Given the description of an element on the screen output the (x, y) to click on. 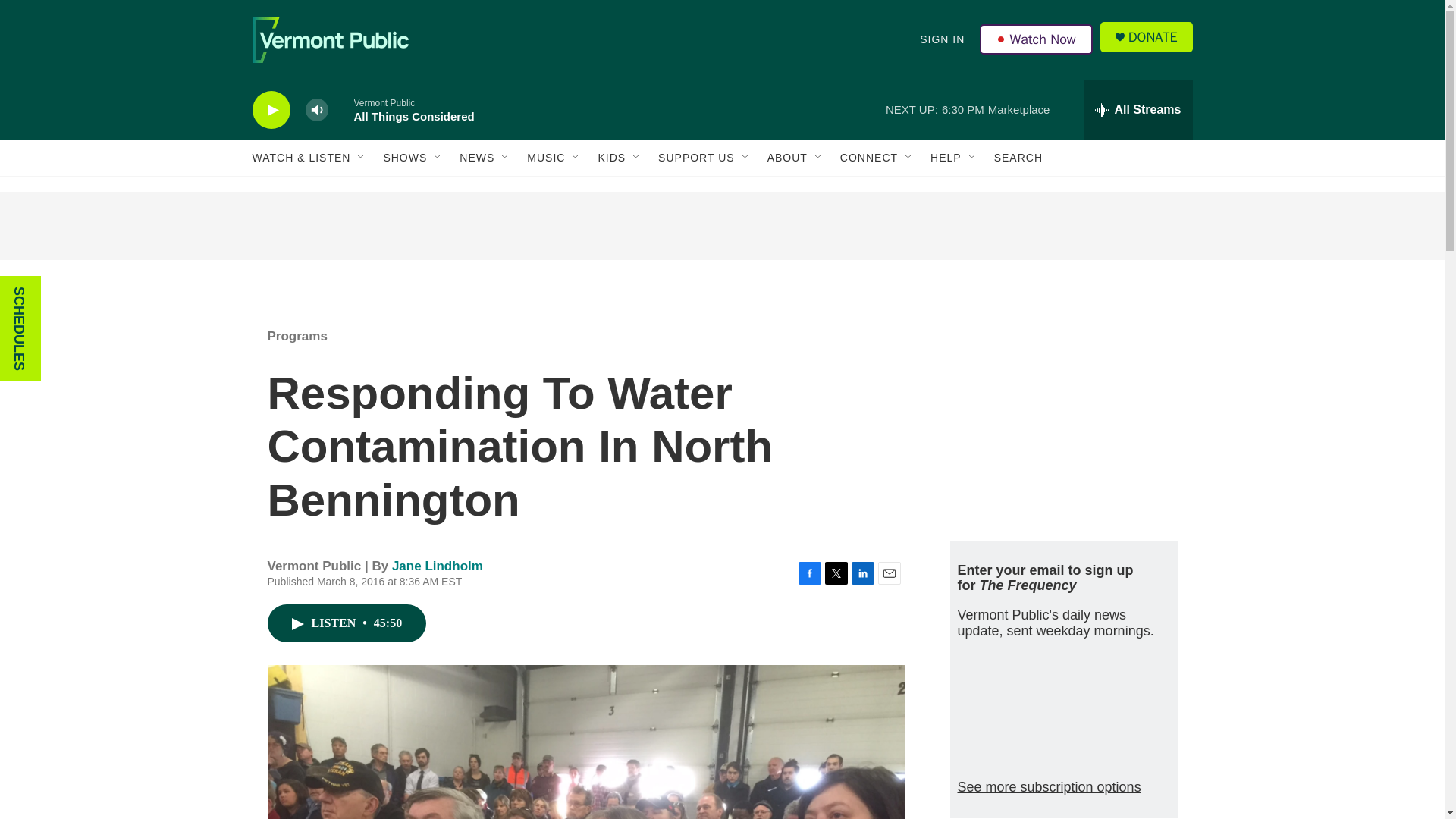
3rd party ad content (1062, 416)
3rd party ad content (721, 225)
